Given the description of an element on the screen output the (x, y) to click on. 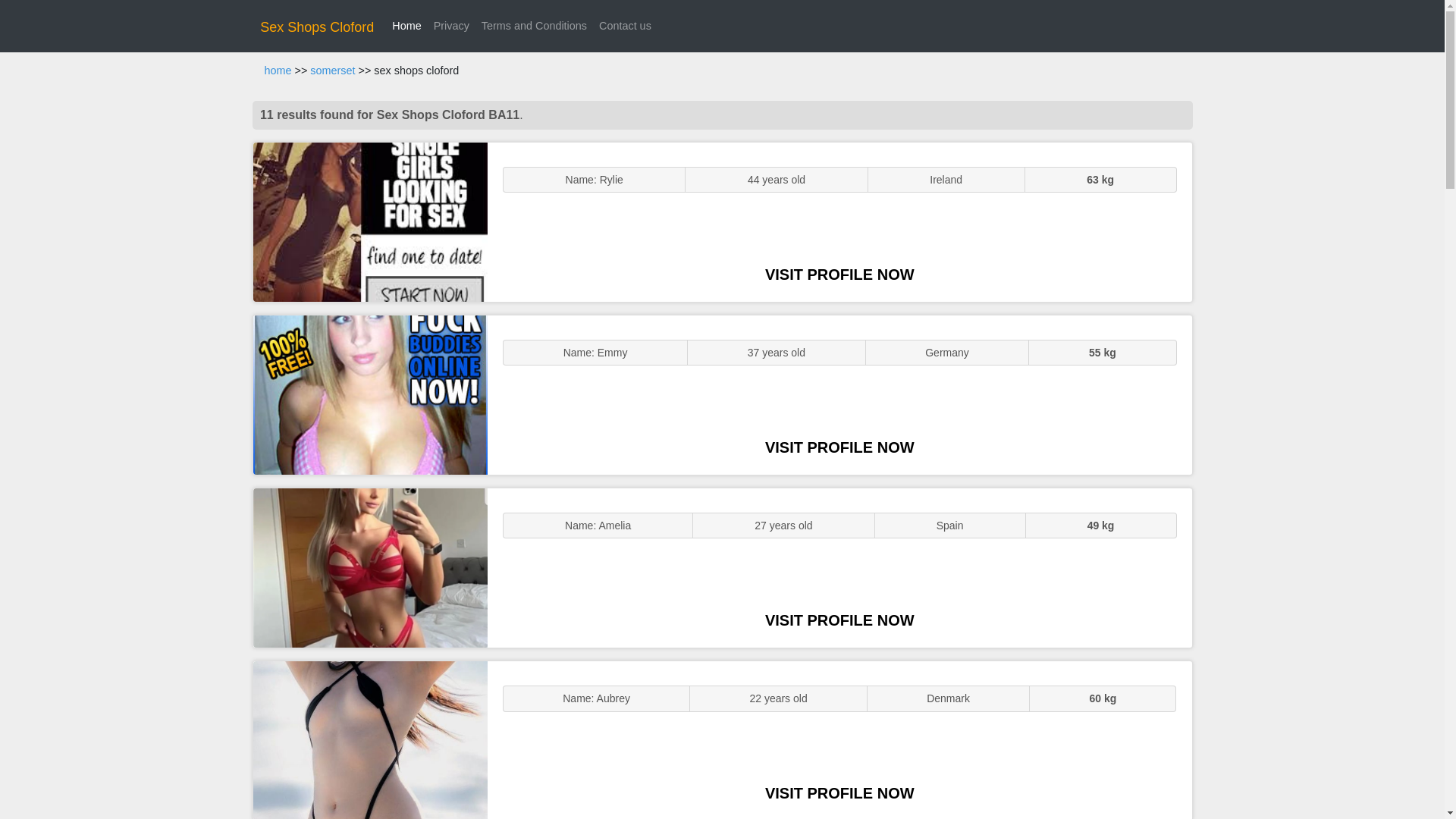
Privacy (452, 25)
VISIT PROFILE NOW (839, 446)
somerset (332, 70)
VISIT PROFILE NOW (839, 274)
home (277, 70)
Contact us (625, 25)
Sexy (370, 567)
Sex Shops Cloford (317, 27)
GFE (370, 395)
VISIT PROFILE NOW (839, 619)
 ENGLISH STUNNER (370, 222)
Sluts (370, 739)
VISIT PROFILE NOW (839, 792)
Terms and Conditions (534, 25)
